Given the description of an element on the screen output the (x, y) to click on. 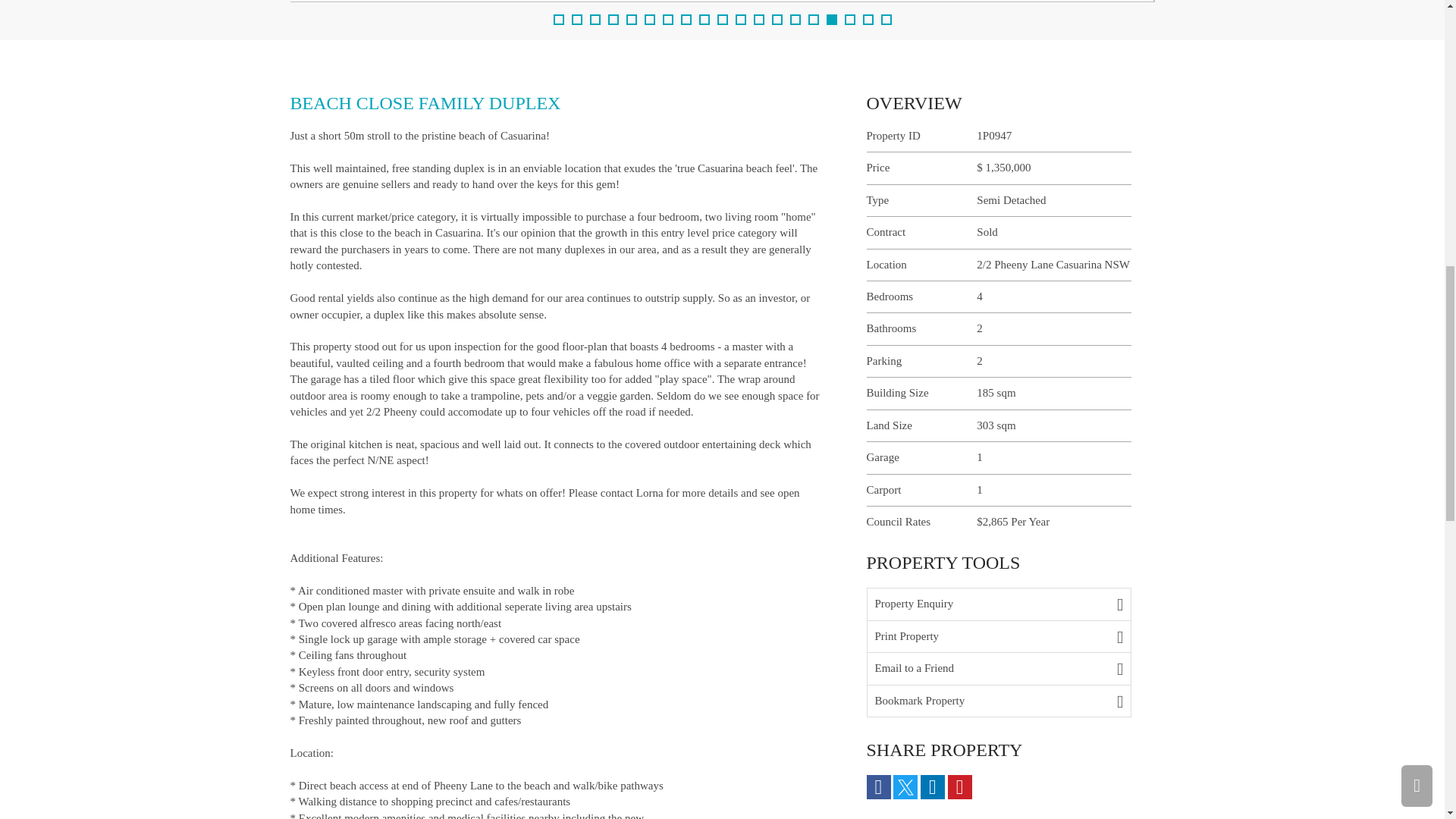
Email to Friend (999, 668)
Email to Agent (999, 603)
